Given the description of an element on the screen output the (x, y) to click on. 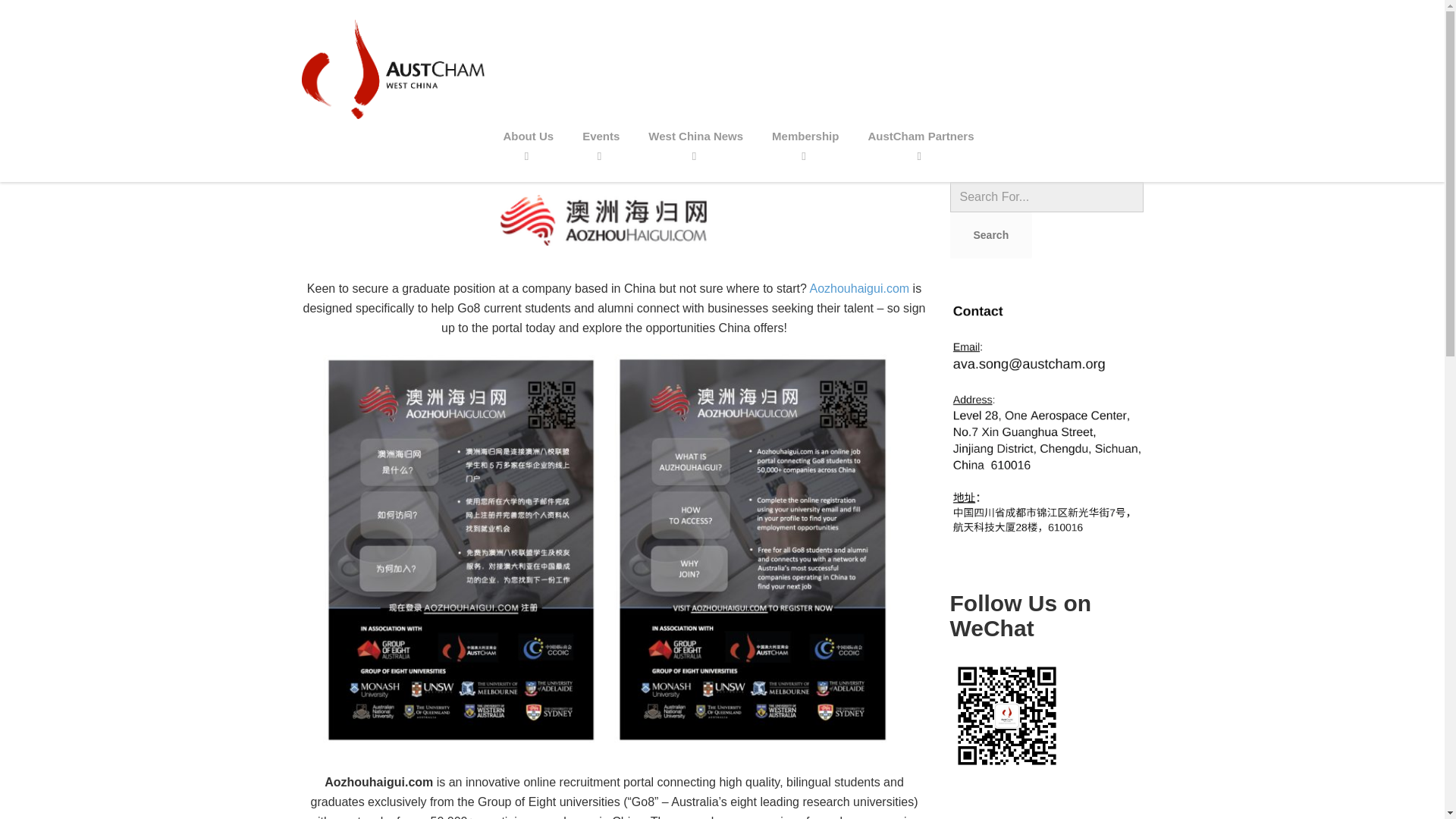
Membership (805, 135)
Search (990, 235)
Search (990, 235)
AustCham Partners (920, 135)
Aozhouhaigui.com (859, 287)
West China News (695, 135)
